Given the description of an element on the screen output the (x, y) to click on. 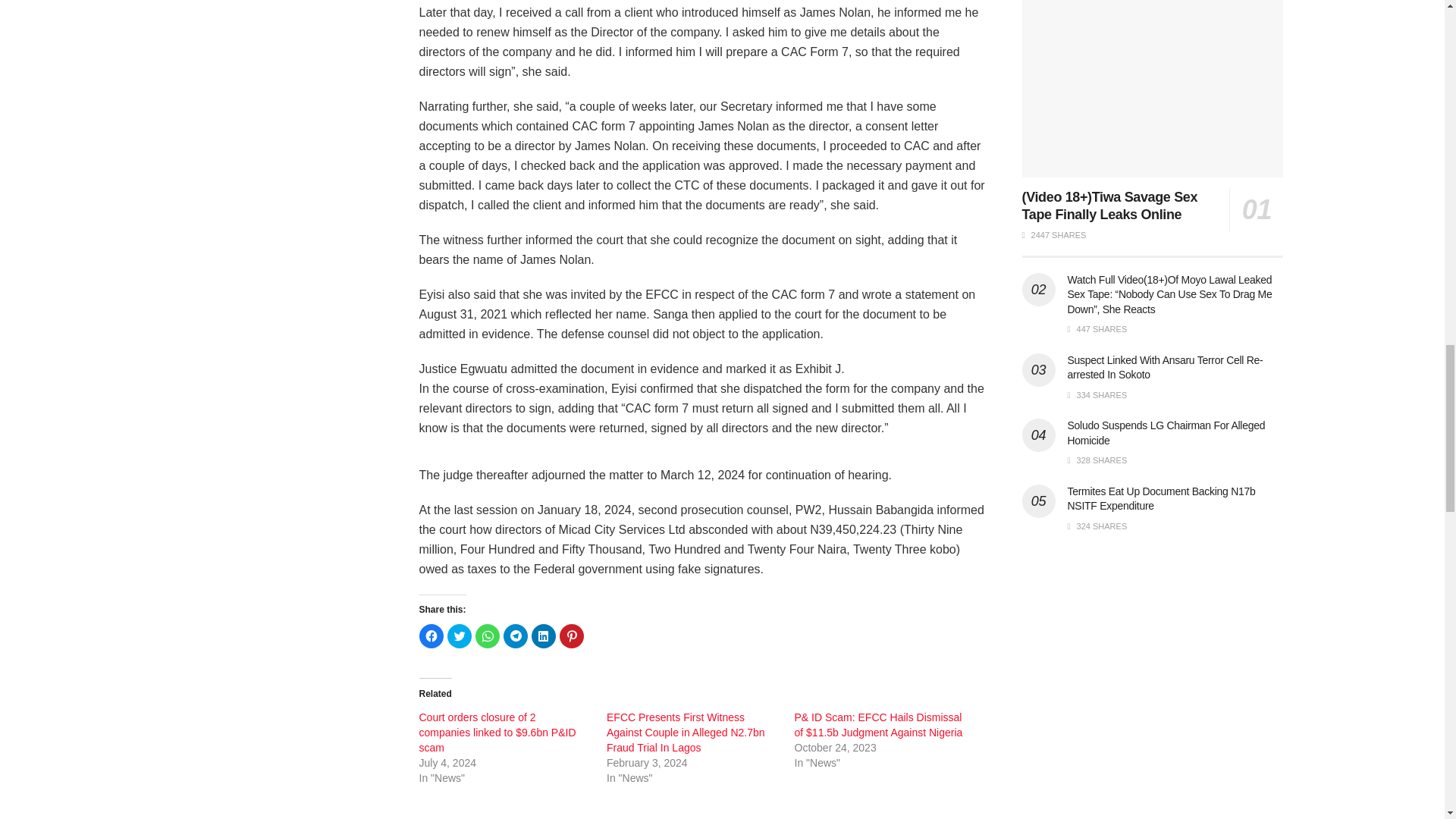
Click to share on LinkedIn (542, 636)
Click to share on Twitter (458, 636)
Click to share on WhatsApp (486, 636)
Click to share on Facebook (430, 636)
Click to share on Telegram (515, 636)
